Given the description of an element on the screen output the (x, y) to click on. 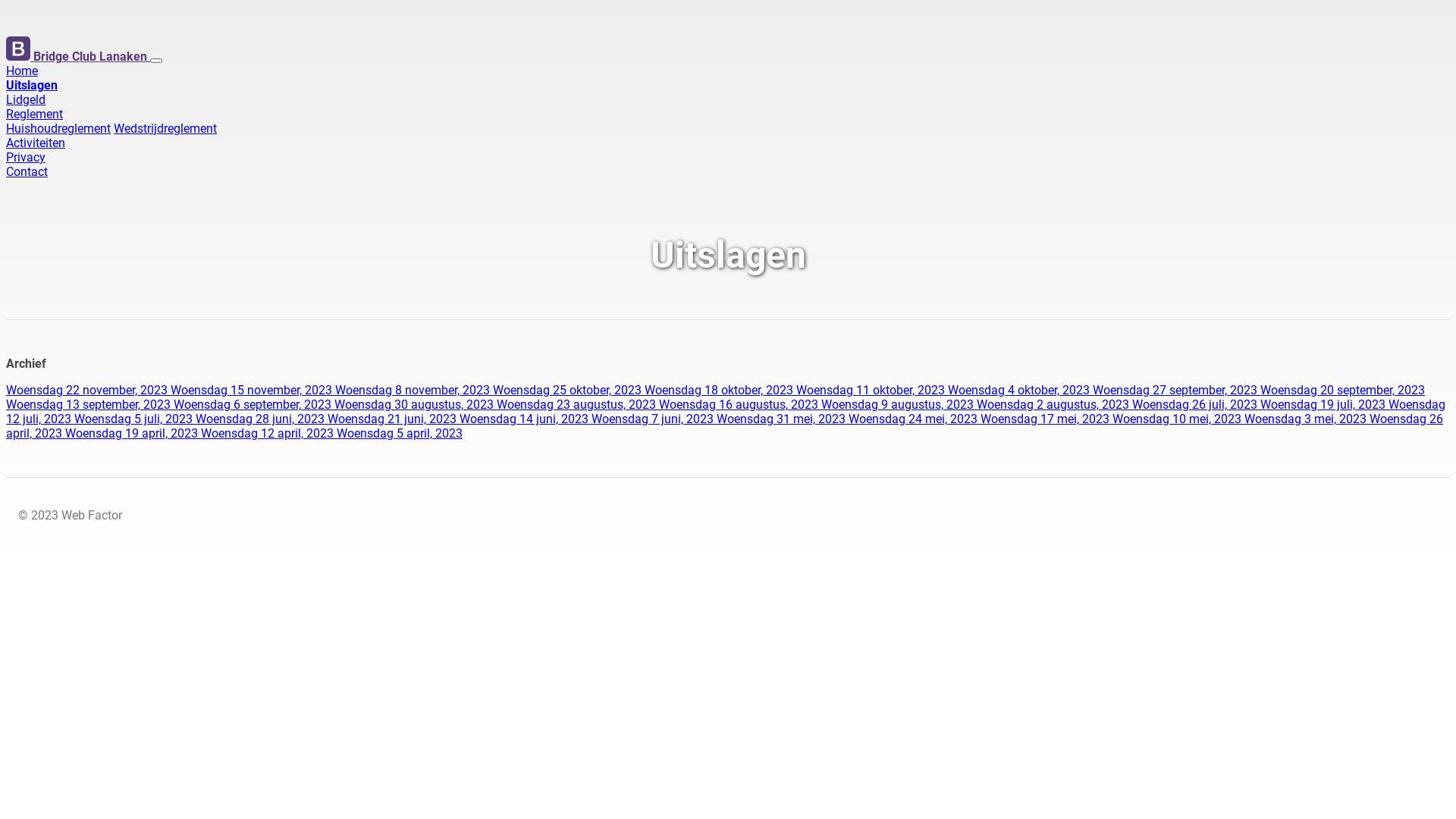
Woensdag 28 juni, 2023 Element type: text (261, 418)
Woensdag 27 september, 2023 Element type: text (1176, 389)
Woensdag 16 augustus, 2023 Element type: text (739, 404)
Woensdag 26 april, 2023 Element type: text (724, 425)
Home Element type: text (21, 70)
Wedstrijdreglement Element type: text (164, 128)
Woensdag 13 september, 2023 Element type: text (89, 404)
Woensdag 6 september, 2023 Element type: text (253, 404)
Woensdag 15 november, 2023 Element type: text (252, 389)
Lidgeld Element type: text (25, 99)
Woensdag 31 mei, 2023 Element type: text (782, 418)
Privacy Element type: text (25, 157)
Woensdag 3 mei, 2023 Element type: text (1306, 418)
Woensdag 18 oktober, 2023 Element type: text (720, 389)
Woensdag 19 april, 2023 Element type: text (132, 433)
Woensdag 2 augustus, 2023 Element type: text (1054, 404)
Woensdag 22 november, 2023 Element type: text (88, 389)
Woensdag 19 juli, 2023 Element type: text (1324, 404)
Contact Element type: text (26, 171)
Woensdag 30 augustus, 2023 Element type: text (415, 404)
Woensdag 12 april, 2023 Element type: text (268, 433)
Woensdag 11 oktober, 2023 Element type: text (871, 389)
Woensdag 10 mei, 2023 Element type: text (1178, 418)
Woensdag 17 mei, 2023 Element type: text (1046, 418)
Woensdag 26 juli, 2023 Element type: text (1196, 404)
Woensdag 12 juli, 2023 Element type: text (725, 411)
Woensdag 7 juni, 2023 Element type: text (653, 418)
Woensdag 4 oktober, 2023 Element type: text (1019, 389)
Woensdag 14 juni, 2023 Element type: text (525, 418)
Huishoudreglement Element type: text (58, 128)
Woensdag 5 juli, 2023 Element type: text (134, 418)
Woensdag 23 augustus, 2023 Element type: text (577, 404)
Woensdag 8 november, 2023 Element type: text (413, 389)
Uitslagen Element type: text (31, 85)
Woensdag 5 april, 2023 Element type: text (399, 433)
Woensdag 24 mei, 2023 Element type: text (914, 418)
Activiteiten Element type: text (35, 142)
Reglement Element type: text (34, 113)
Woensdag 9 augustus, 2023 Element type: text (898, 404)
Bridge Club Lanaken Element type: text (78, 56)
Woensdag 21 juni, 2023 Element type: text (393, 418)
Woensdag 20 september, 2023 Element type: text (1342, 389)
Woensdag 25 oktober, 2023 Element type: text (568, 389)
